Given the description of an element on the screen output the (x, y) to click on. 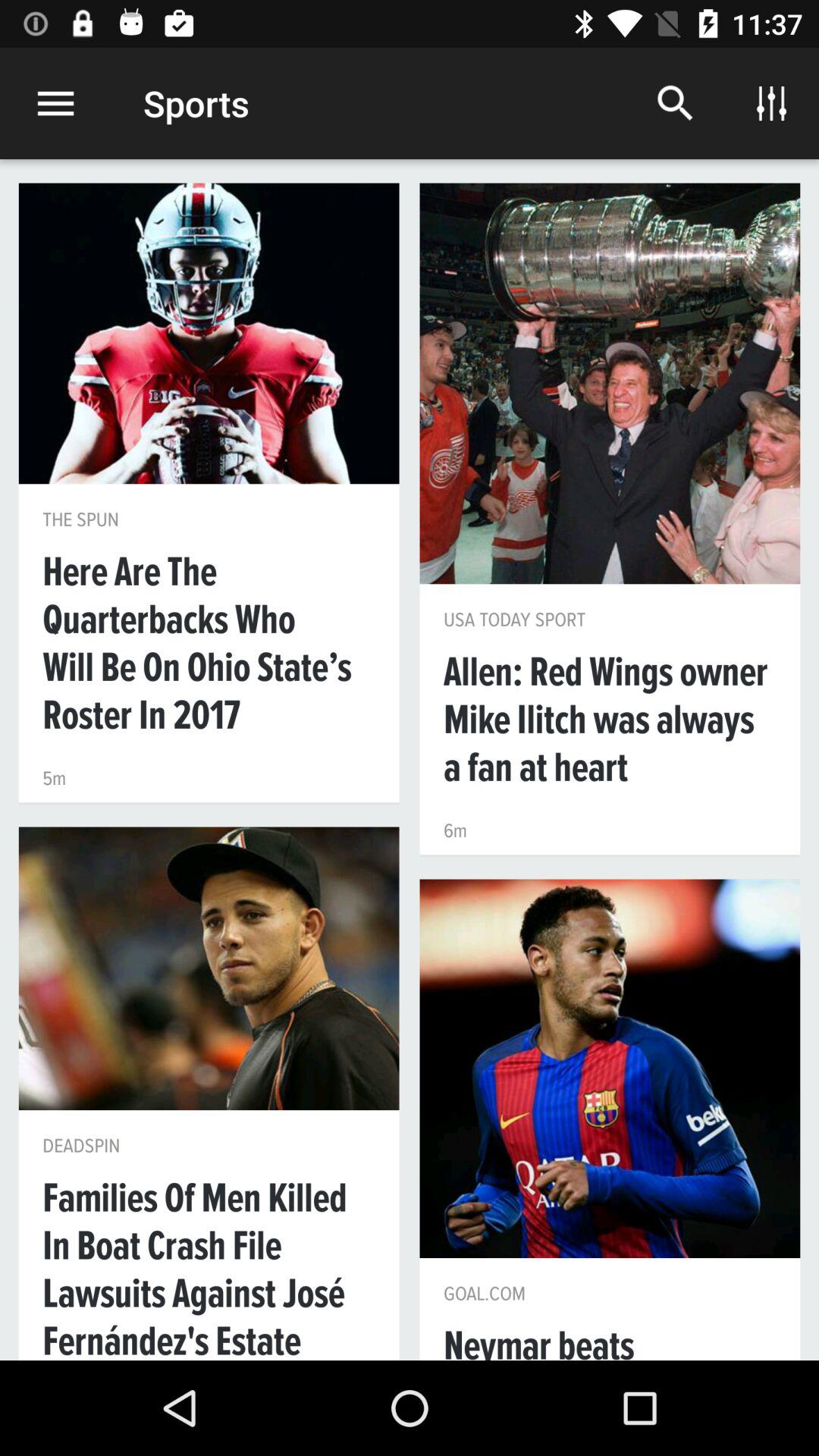
open item next to sports item (675, 103)
